Given the description of an element on the screen output the (x, y) to click on. 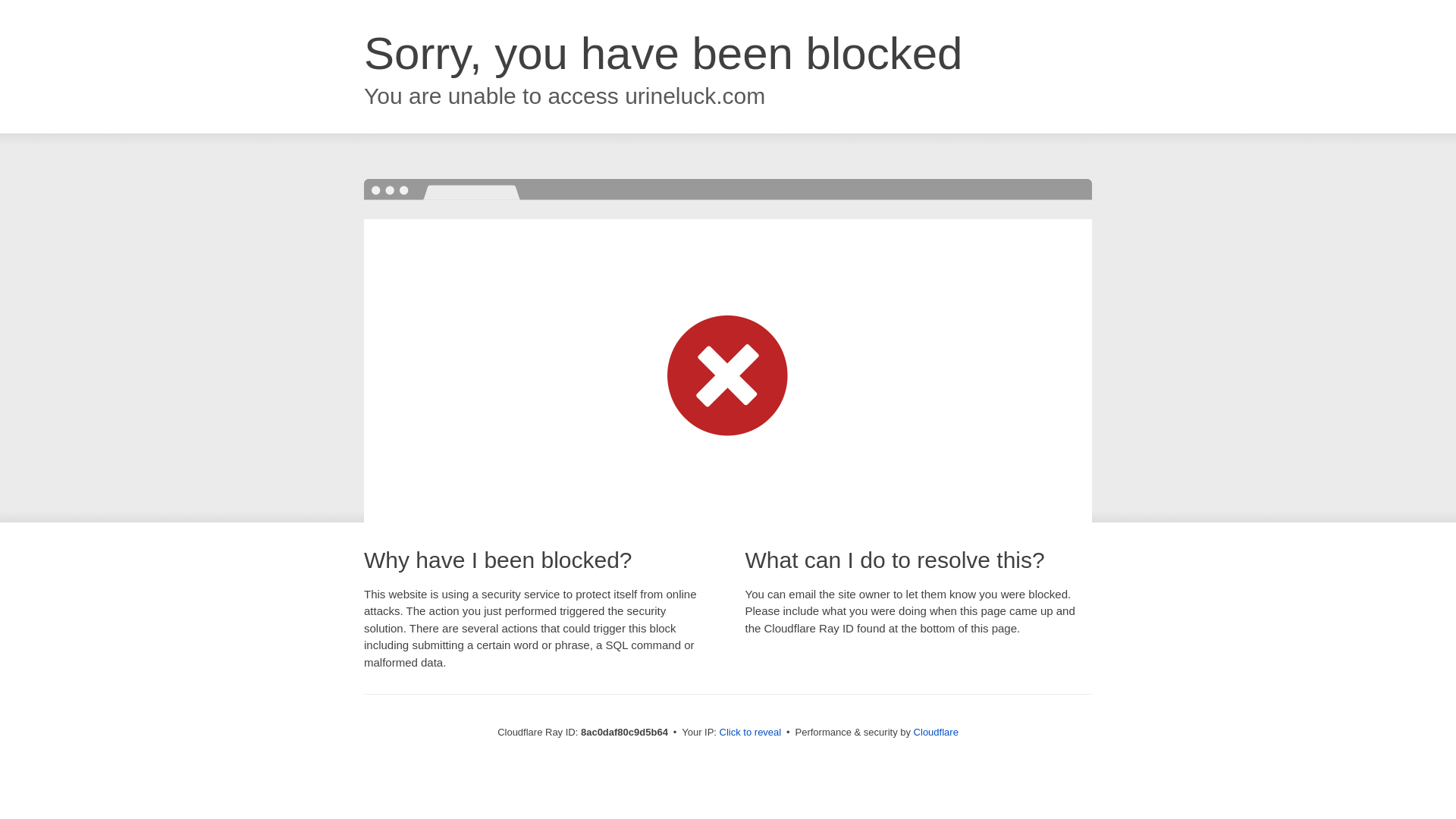
Click to reveal (750, 732)
Cloudflare (936, 731)
